Given the description of an element on the screen output the (x, y) to click on. 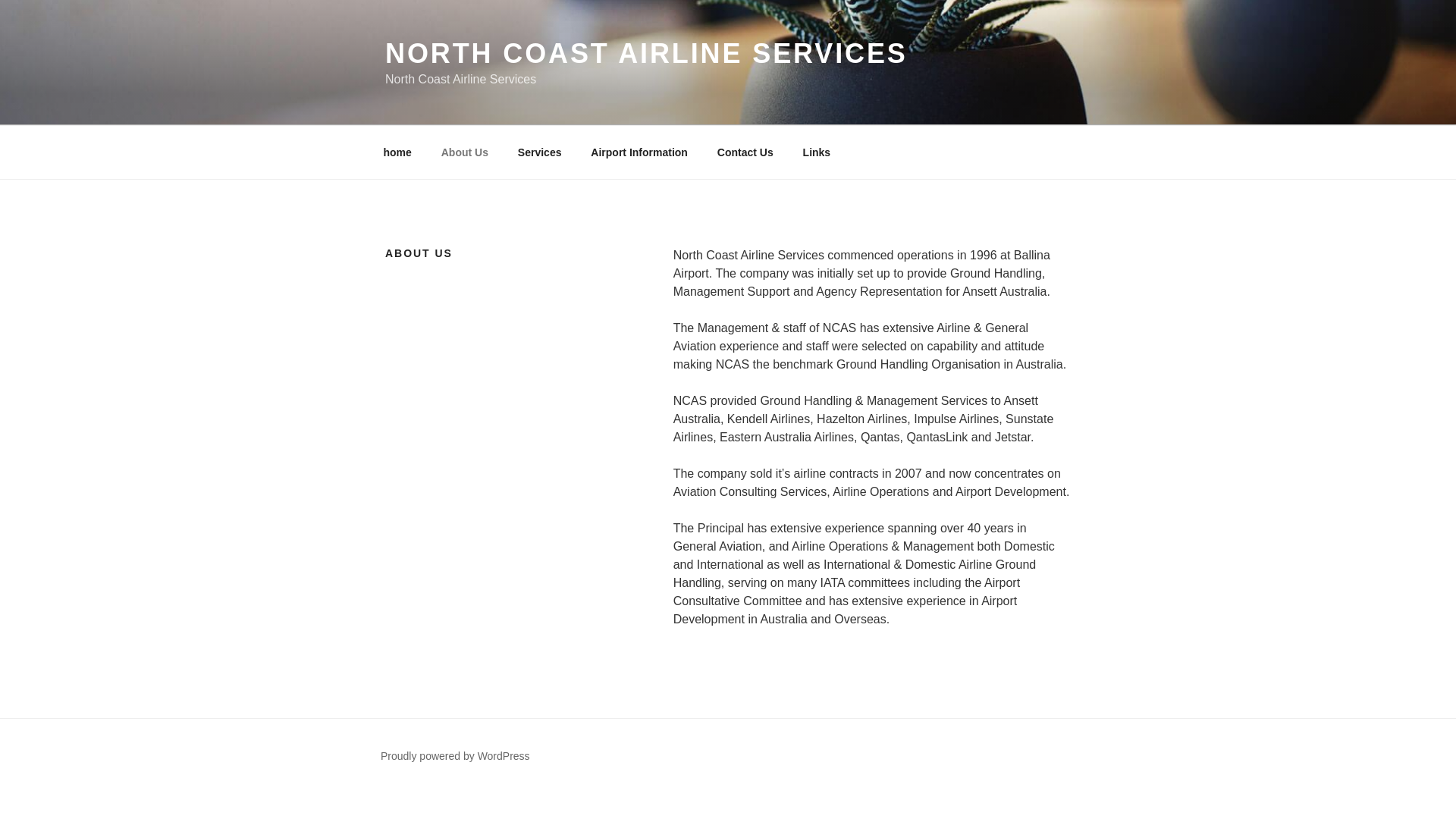
Links Element type: text (816, 151)
home Element type: text (397, 151)
Proudly powered by WordPress Element type: text (455, 755)
Services Element type: text (539, 151)
Contact Us Element type: text (744, 151)
Airport Information Element type: text (639, 151)
NORTH COAST AIRLINE SERVICES Element type: text (646, 53)
About Us Element type: text (464, 151)
